Given the description of an element on the screen output the (x, y) to click on. 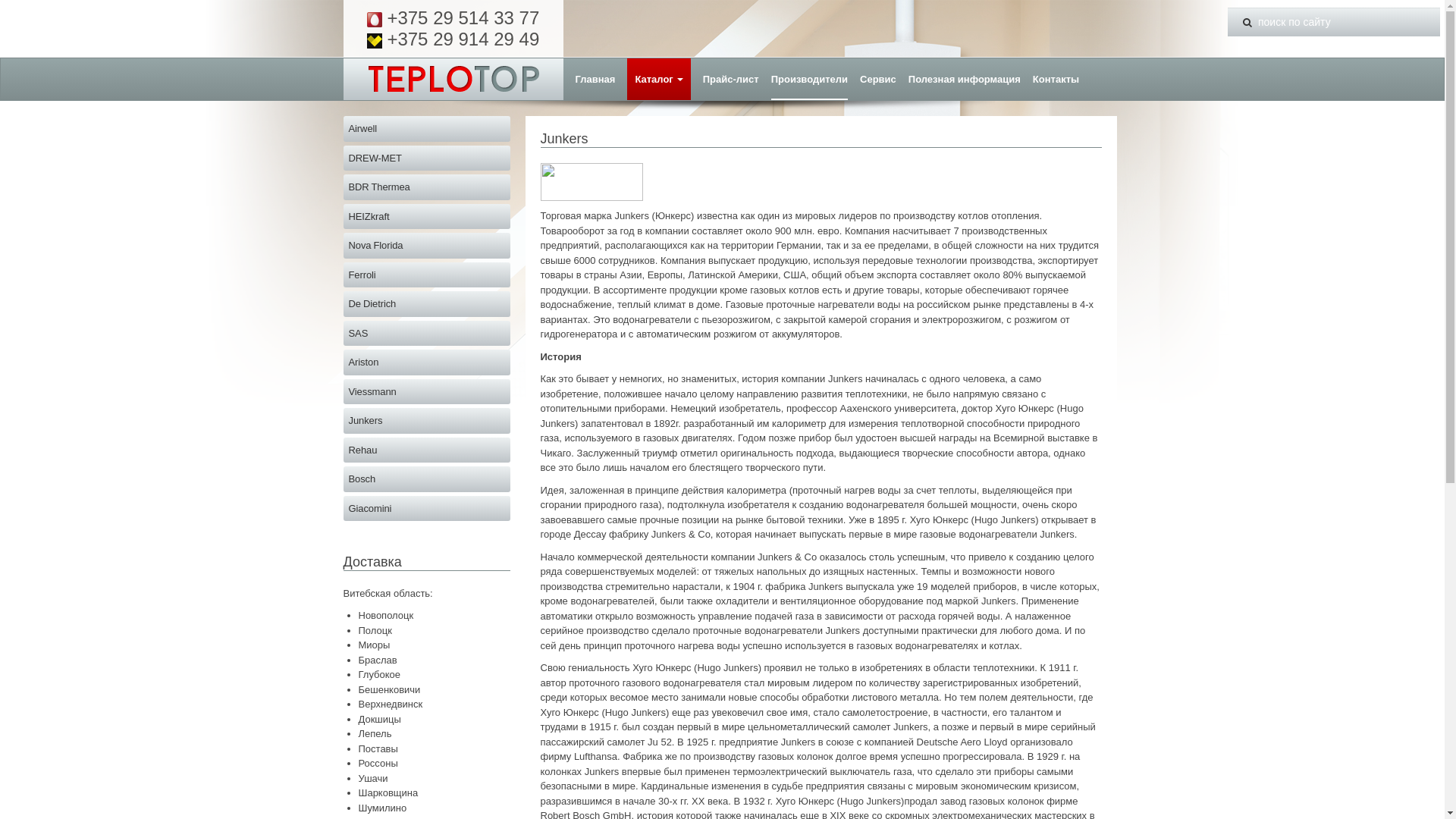
DREW-MET Element type: text (425, 158)
BDR Thermea Element type: text (425, 187)
De Dietrich Element type: text (425, 303)
Ariston Element type: text (425, 362)
Junkers Element type: text (425, 420)
Ferroli Element type: text (425, 275)
HEIZkraft Element type: text (425, 216)
Viessmann Element type: text (425, 391)
Giacomini Element type: text (425, 508)
Rehau Element type: text (425, 449)
Airwell Element type: text (425, 128)
Nova Florida Element type: text (425, 245)
Bosch Element type: text (425, 479)
SAS Element type: text (425, 332)
